Given the description of an element on the screen output the (x, y) to click on. 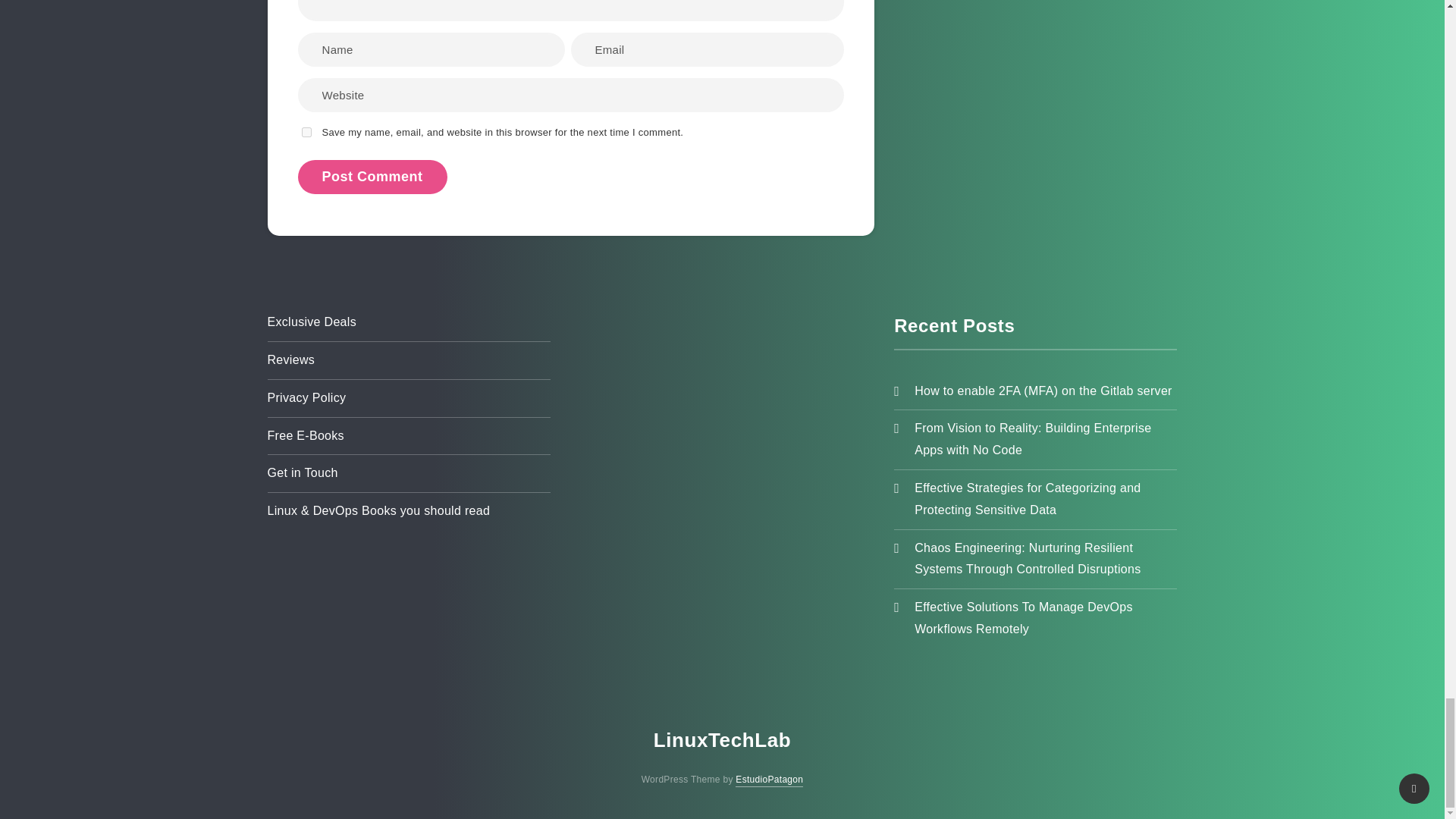
yes (306, 132)
Powered with Breek (769, 779)
Post Comment (371, 176)
